Given the description of an element on the screen output the (x, y) to click on. 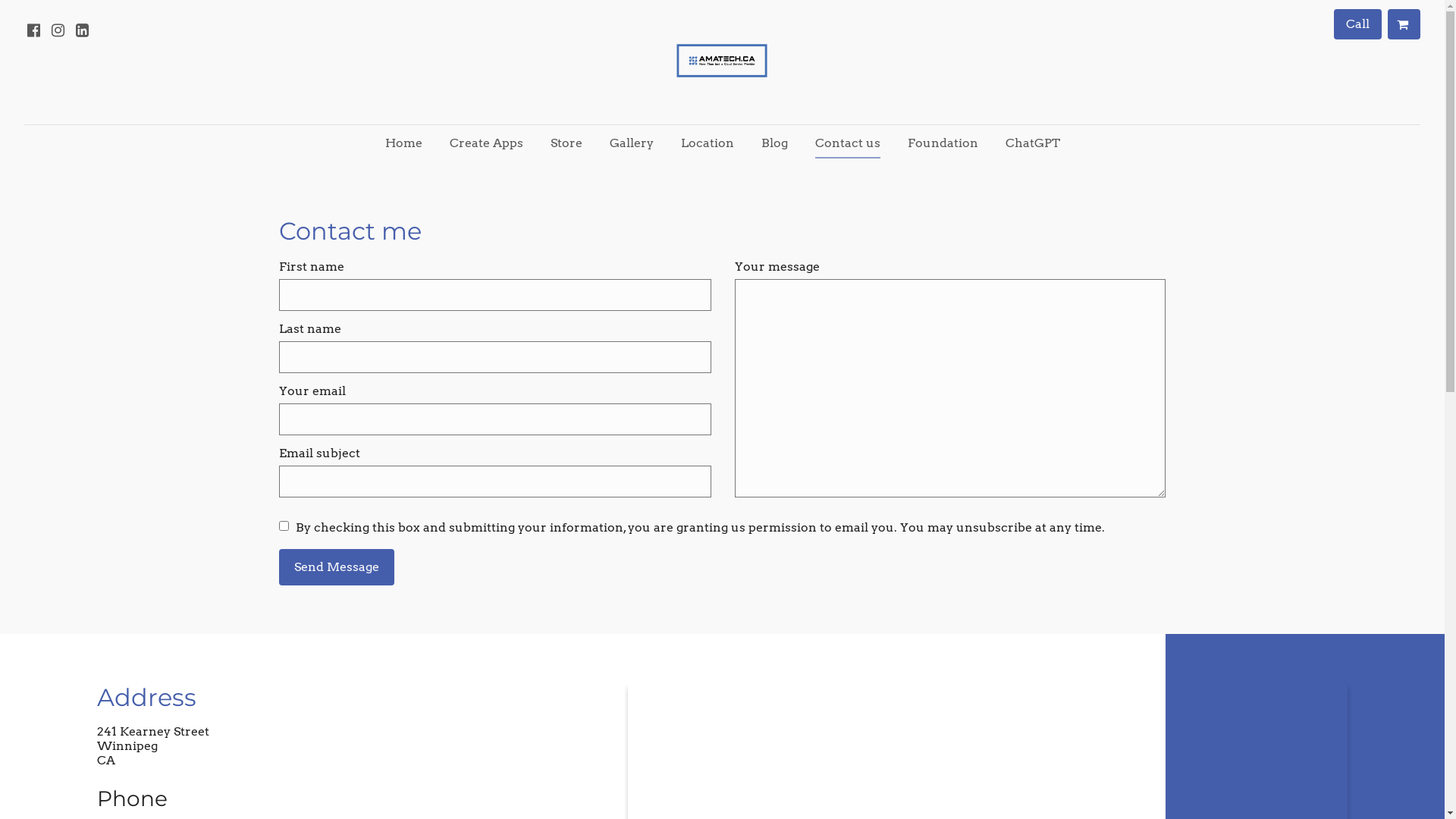
Home Element type: text (403, 143)
Location Element type: text (707, 143)
Contact us Element type: text (846, 143)
Create Apps Element type: text (485, 143)
Call Element type: text (1357, 24)
Send Message Element type: text (336, 567)
ChatGPT Element type: text (1032, 143)
Blog Element type: text (774, 143)
Store Element type: text (566, 143)
Gallery Element type: text (631, 143)
Foundation Element type: text (941, 143)
